Given the description of an element on the screen output the (x, y) to click on. 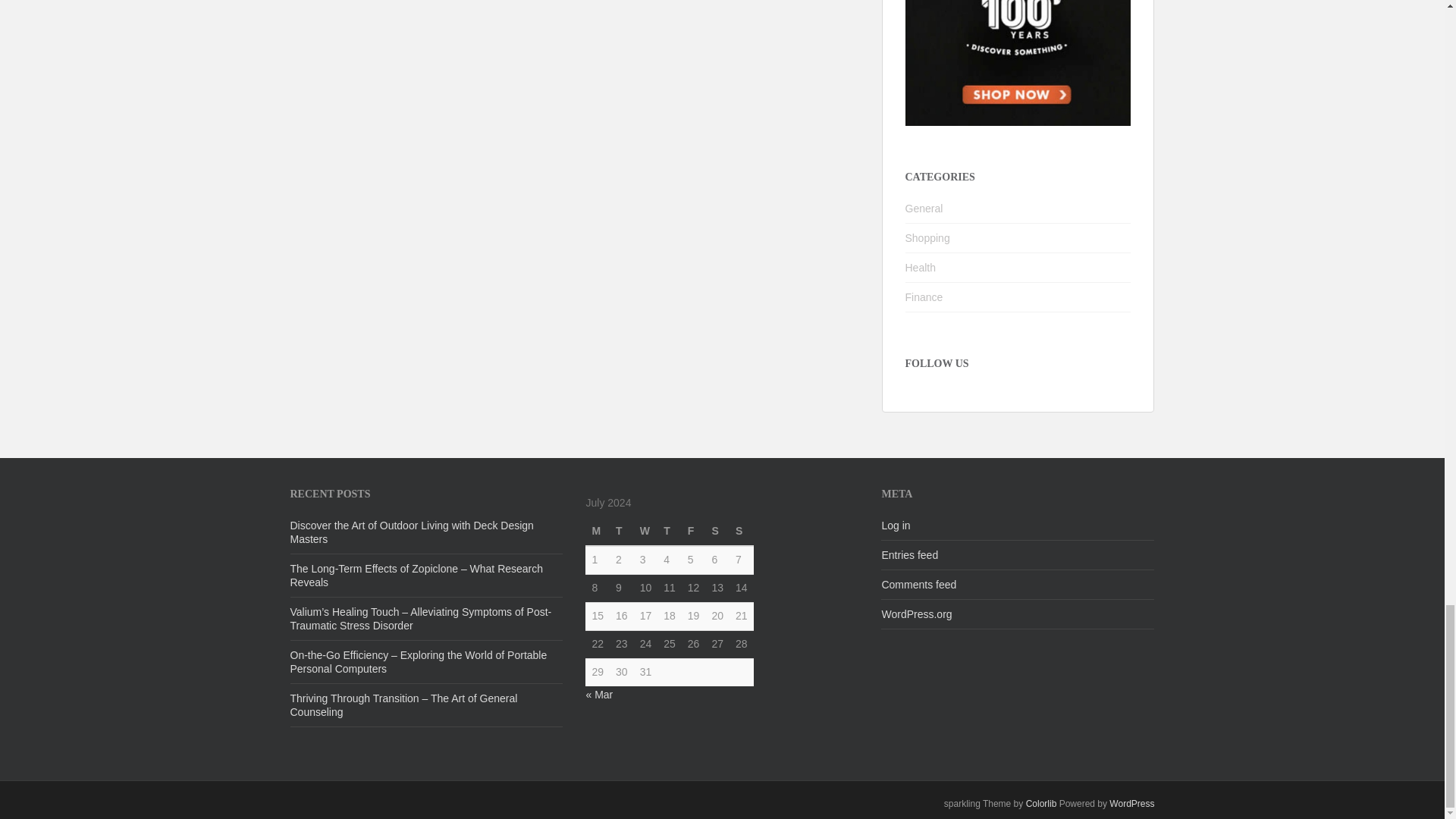
Saturday (716, 531)
Wednesday (645, 531)
Thursday (669, 531)
Tuesday (621, 531)
Friday (693, 531)
Sunday (741, 531)
Monday (597, 531)
